Given the description of an element on the screen output the (x, y) to click on. 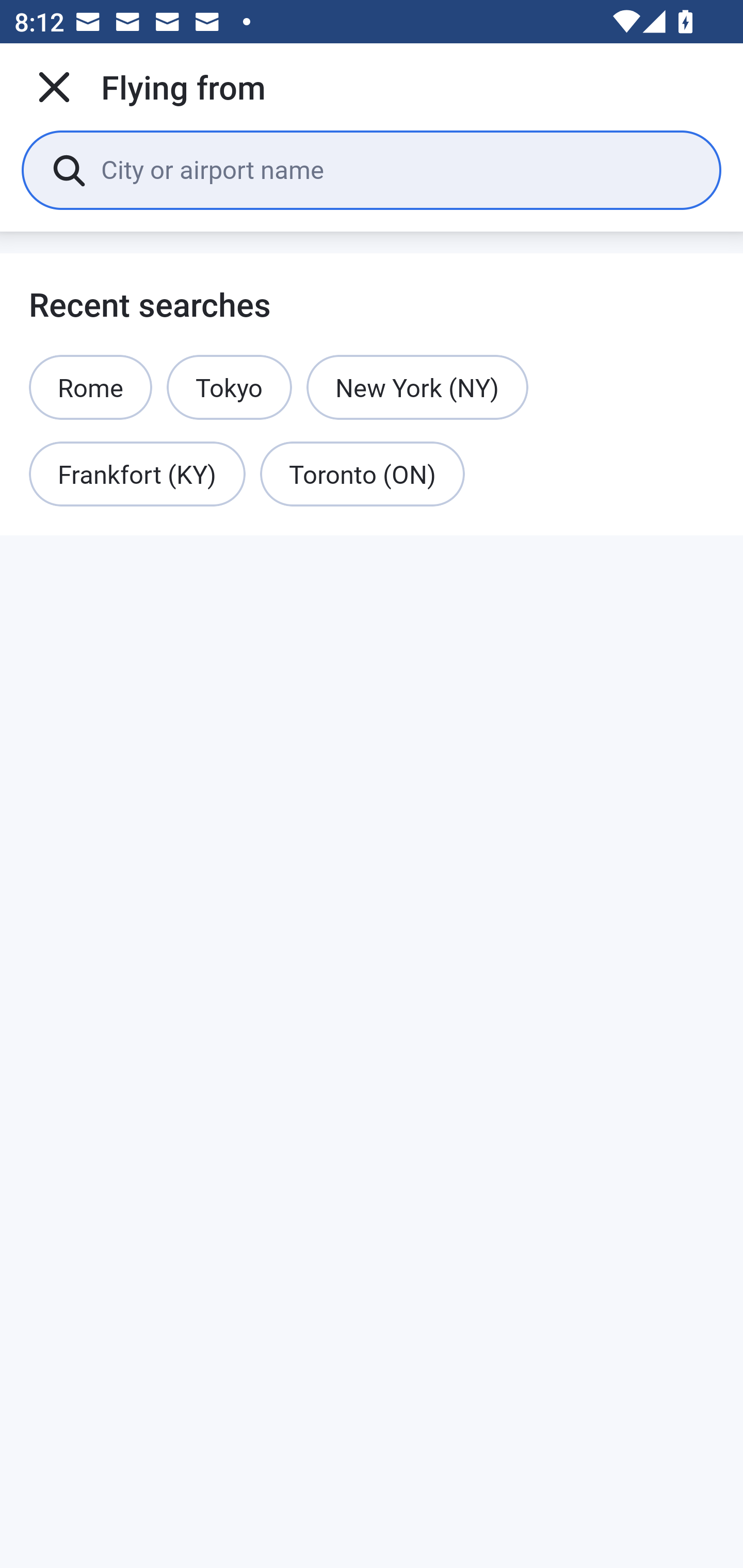
City or airport name (396, 169)
Rome (90, 387)
Tokyo (228, 387)
New York (NY) (417, 387)
Frankfort (KY) (136, 474)
Toronto (ON) (362, 474)
